Given the description of an element on the screen output the (x, y) to click on. 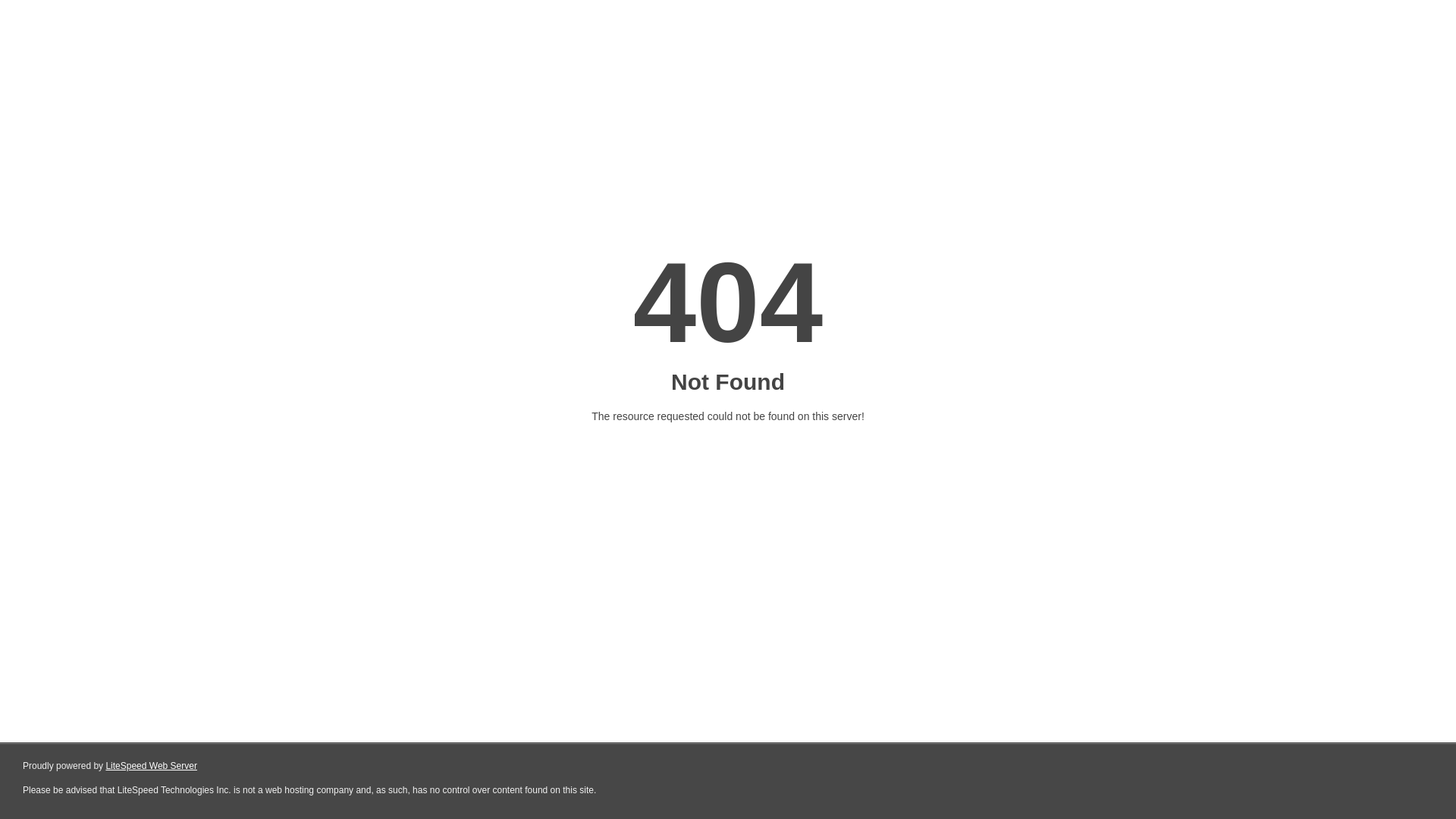
LiteSpeed Web Server Element type: text (151, 765)
